Given the description of an element on the screen output the (x, y) to click on. 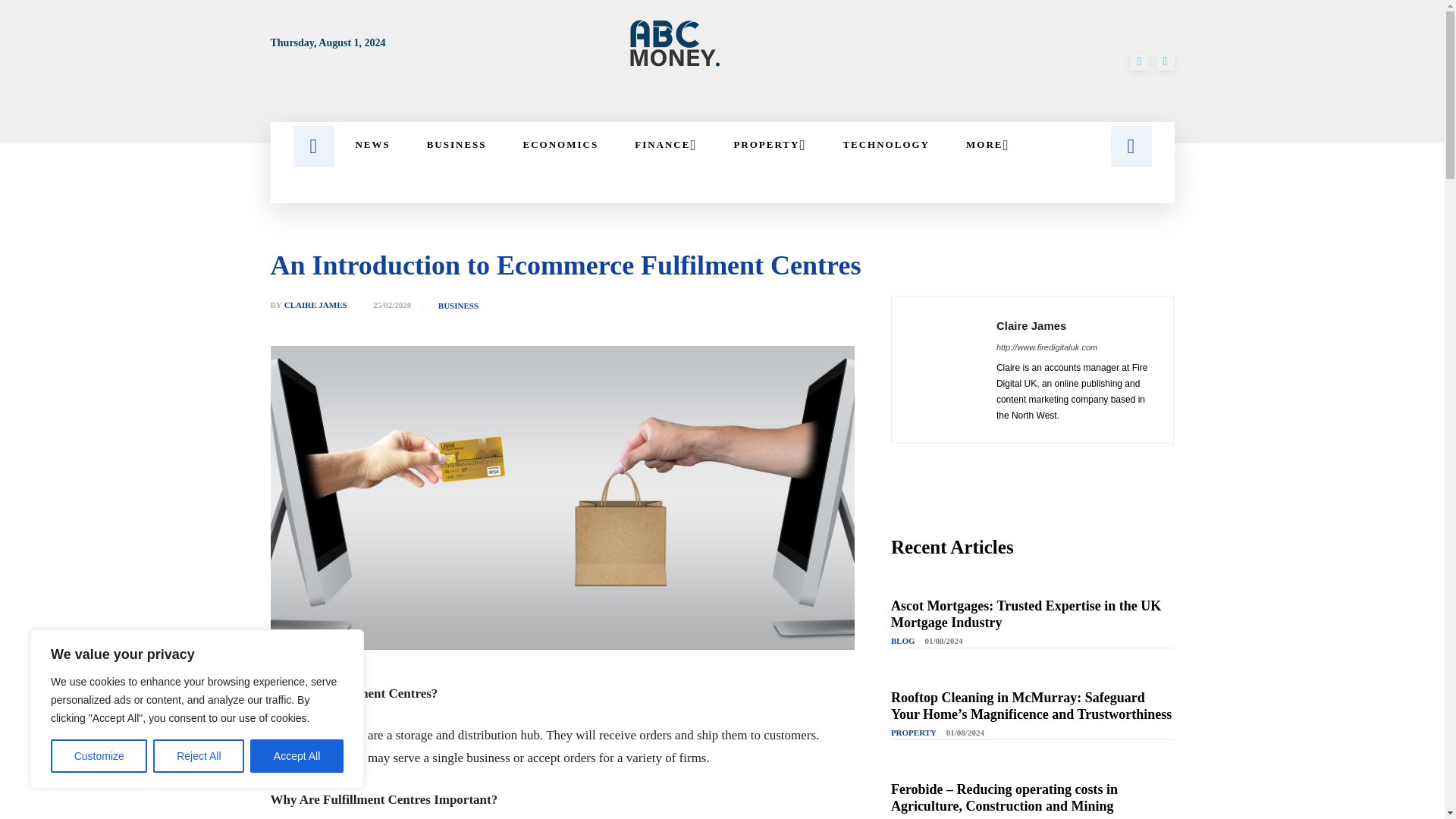
FINANCE (664, 143)
BUSINESS (457, 143)
NEWS (371, 143)
Facebook (1138, 60)
Reject All (198, 756)
Accept All (296, 756)
Customize (98, 756)
Twitter (1164, 60)
ECONOMICS (561, 143)
PROPERTY (769, 143)
